Given the description of an element on the screen output the (x, y) to click on. 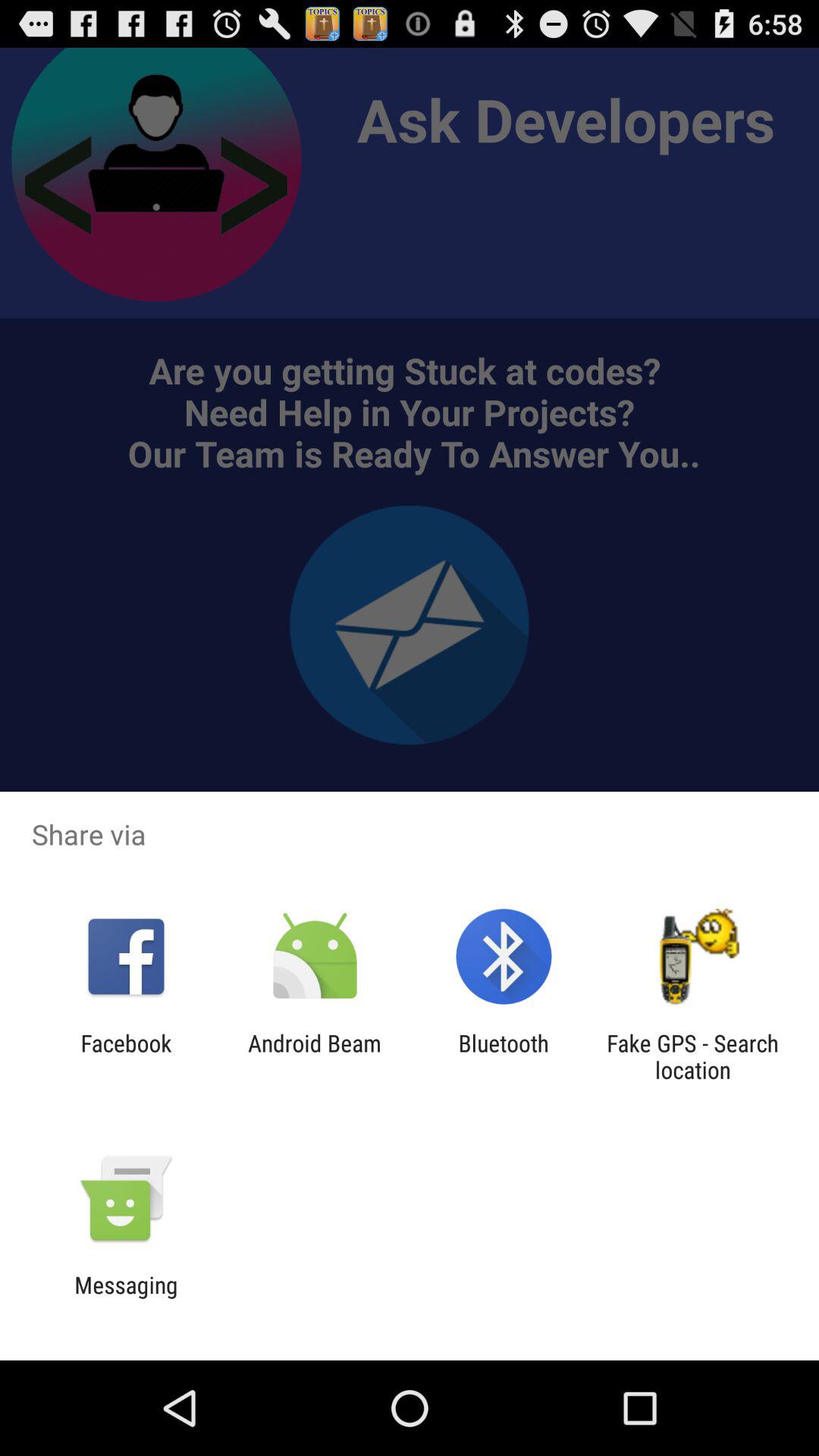
turn on the messaging app (126, 1298)
